Given the description of an element on the screen output the (x, y) to click on. 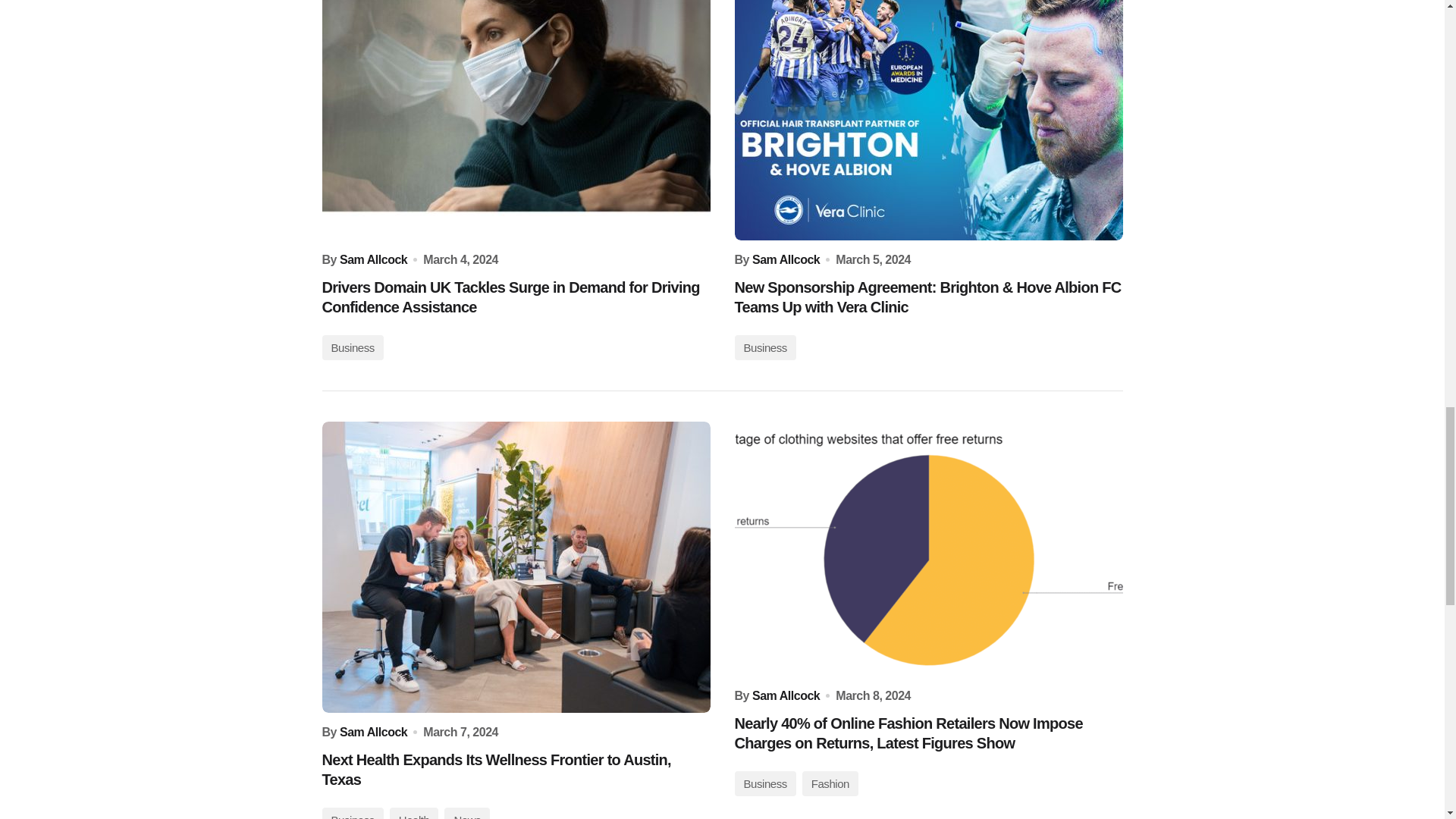
Next Health Expands Its Wellness Frontier to Austin, Texas (515, 566)
